Given the description of an element on the screen output the (x, y) to click on. 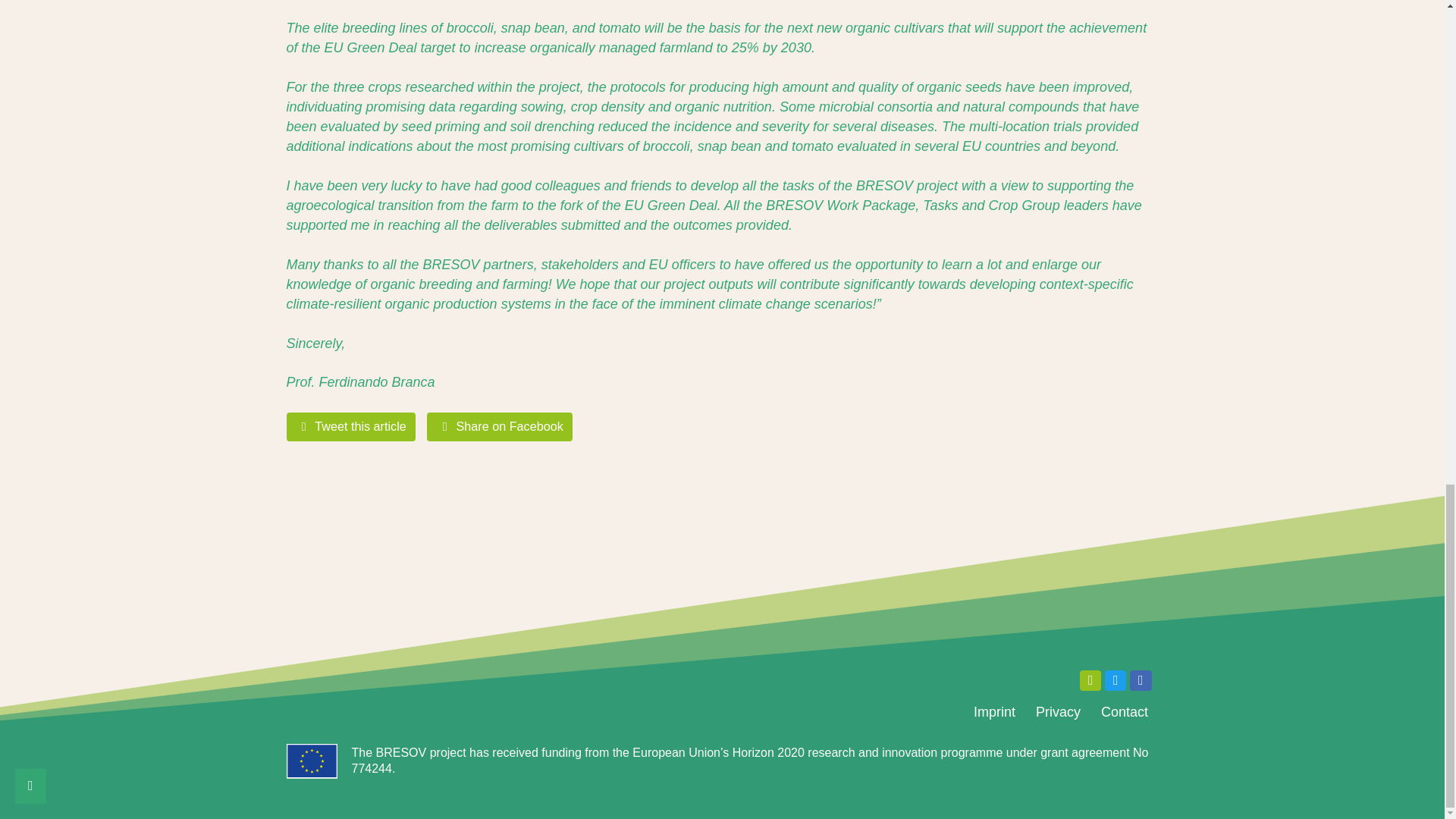
Tweet this article (351, 426)
Share on Facebook (499, 426)
Tweet this article (351, 426)
Imprint (993, 712)
Share on Facebook (499, 426)
Contact (1123, 712)
Privacy (1057, 712)
